Given the description of an element on the screen output the (x, y) to click on. 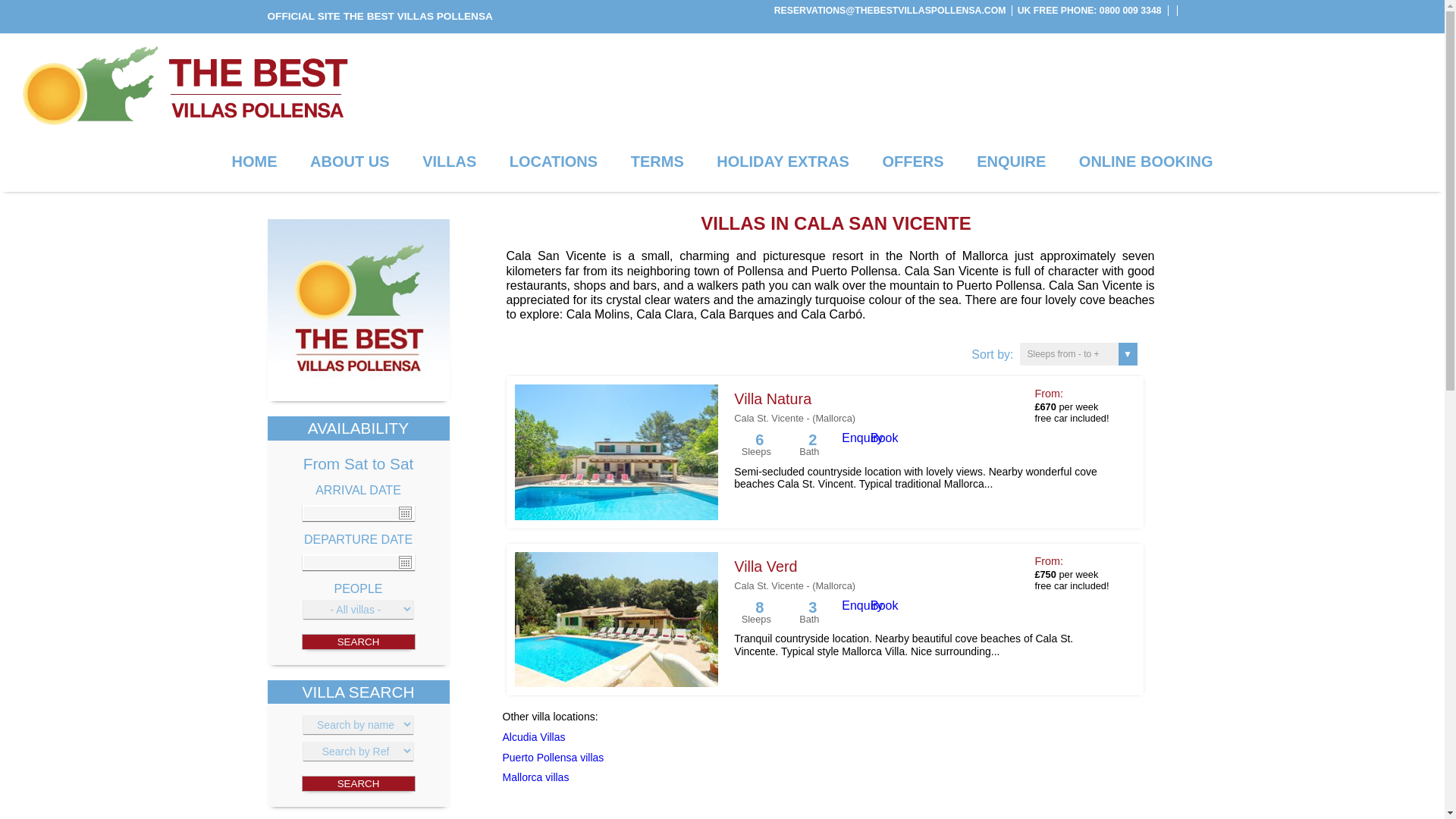
LOCATIONS (552, 161)
Return to TBVP home, Pollensa villas. (357, 310)
The Best Villas Pollensa Terms and Conditions (658, 161)
TBVP Home (357, 396)
Contact villas (1011, 161)
VILLAS (448, 161)
ABOUT US (349, 161)
TERMS (658, 161)
Our company (349, 161)
Our holiday villas in Mallorca north (448, 161)
